Given the description of an element on the screen output the (x, y) to click on. 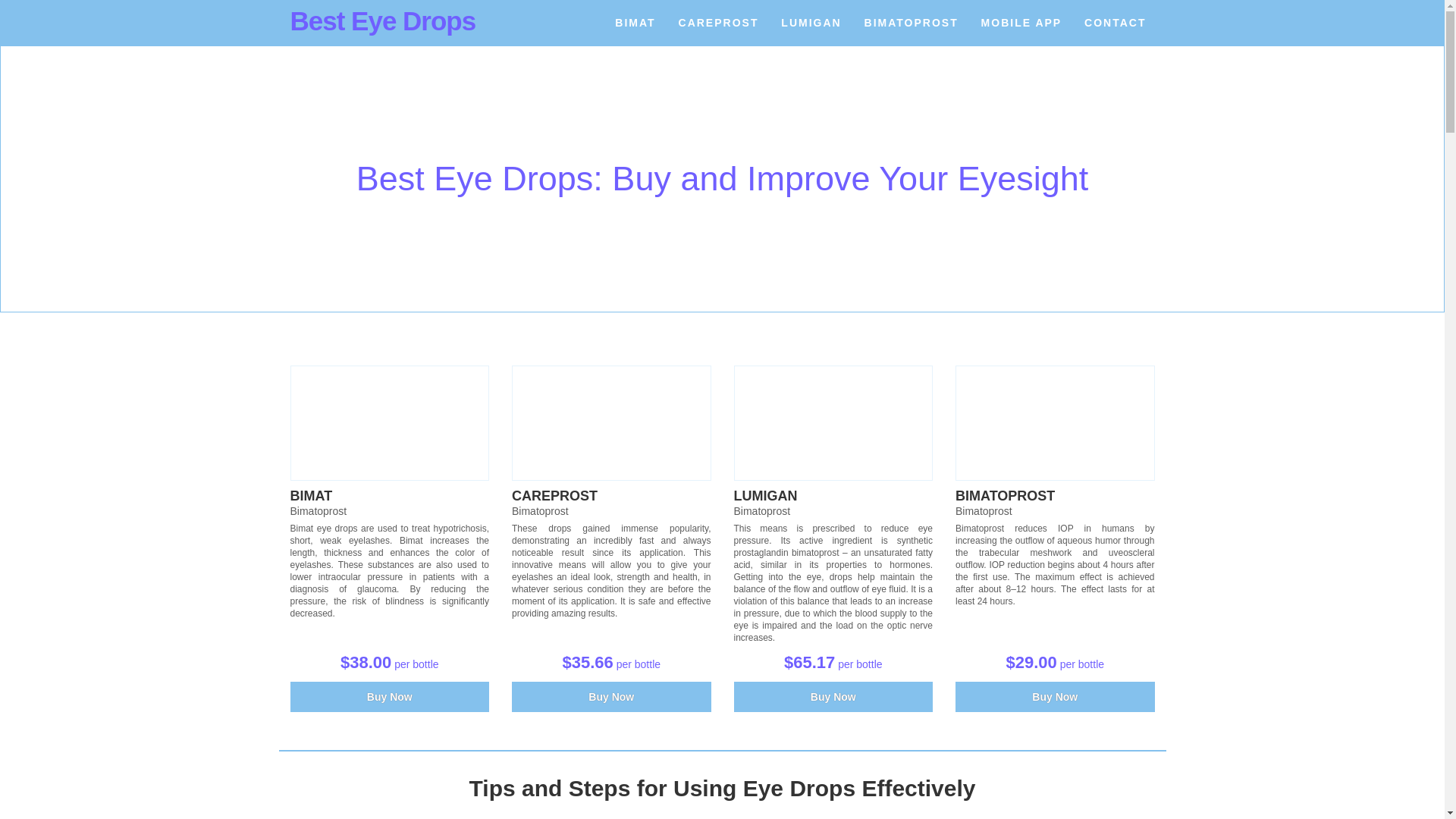
Buy Now (833, 696)
Buy Now (611, 696)
MOBILE APP (1021, 22)
Careprost (554, 495)
LUMIGAN (765, 495)
Best Eye Drops (382, 20)
Buy Now (389, 696)
BIMATOPROST (911, 22)
BIMAT (635, 22)
Careprost (611, 422)
